Given the description of an element on the screen output the (x, y) to click on. 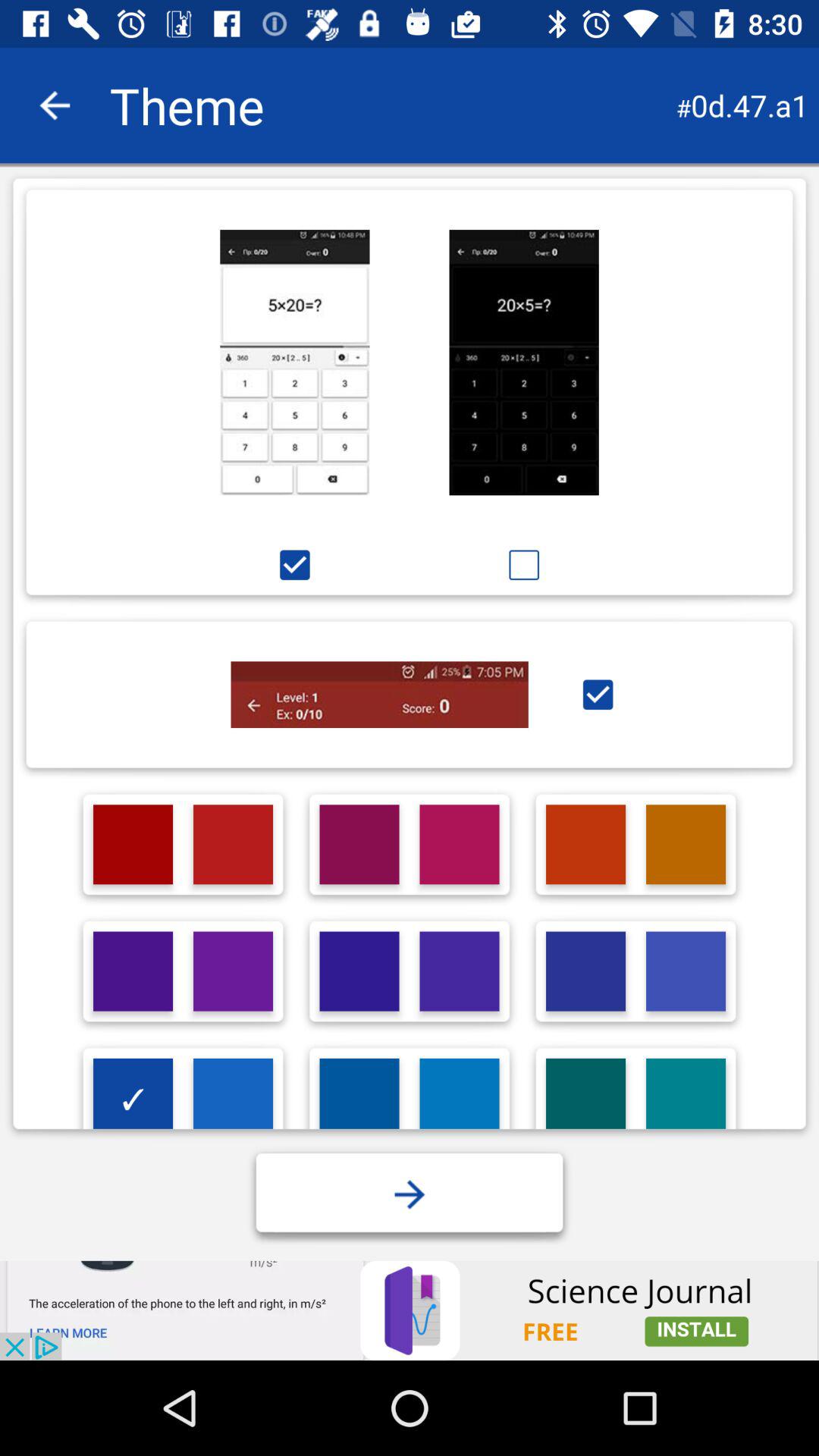
colour button (459, 844)
